Given the description of an element on the screen output the (x, y) to click on. 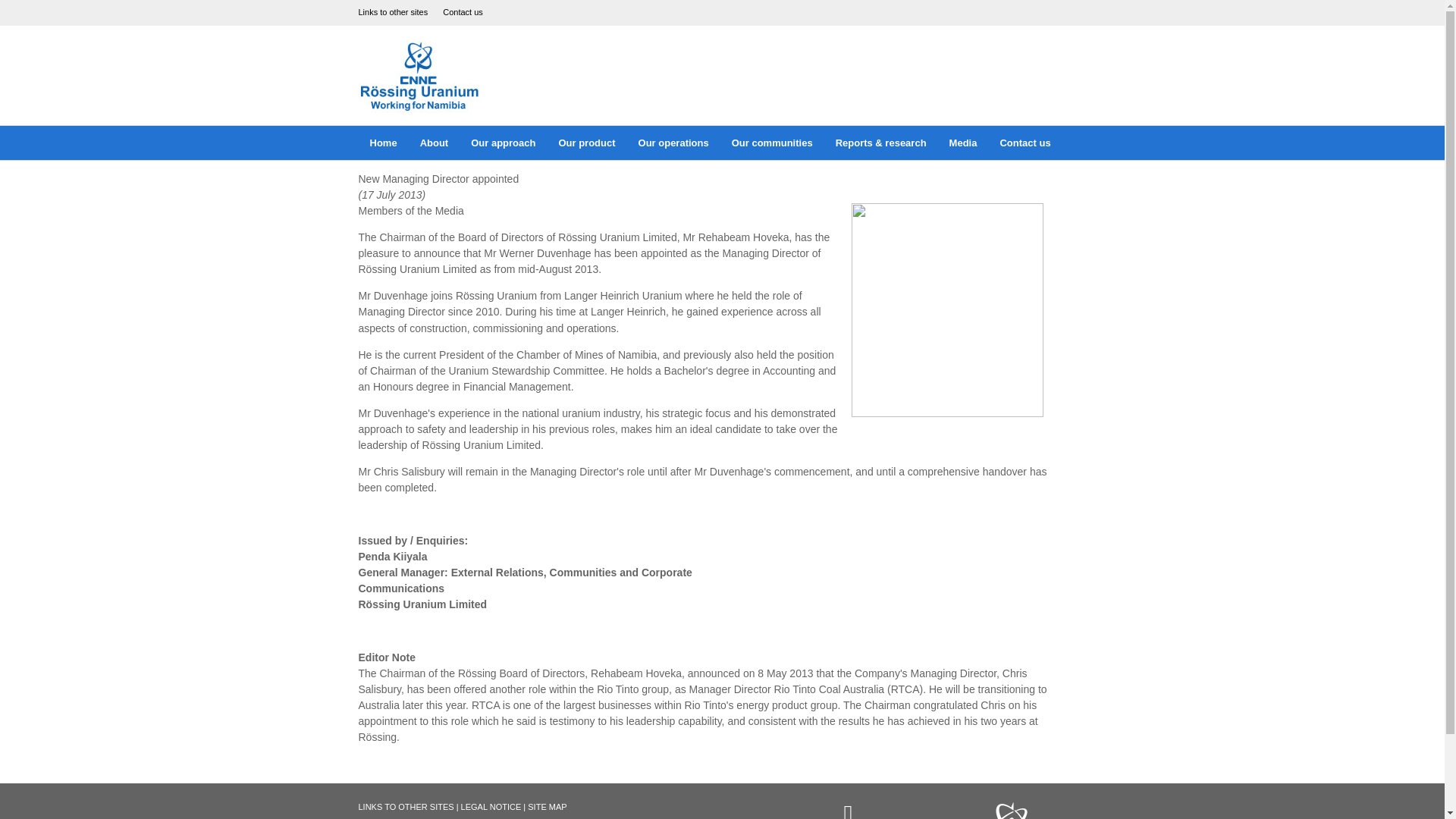
Home (382, 142)
Our product (586, 142)
Our operations (673, 142)
Our neighbouring communities (772, 142)
Our operations (673, 142)
Contact us (462, 12)
Who we are (434, 142)
Our approach (503, 142)
Links to other sites (393, 12)
Reports and research (880, 142)
Media (962, 142)
Home (382, 142)
Our approach (503, 142)
Our communities (772, 142)
What we produce (586, 142)
